Given the description of an element on the screen output the (x, y) to click on. 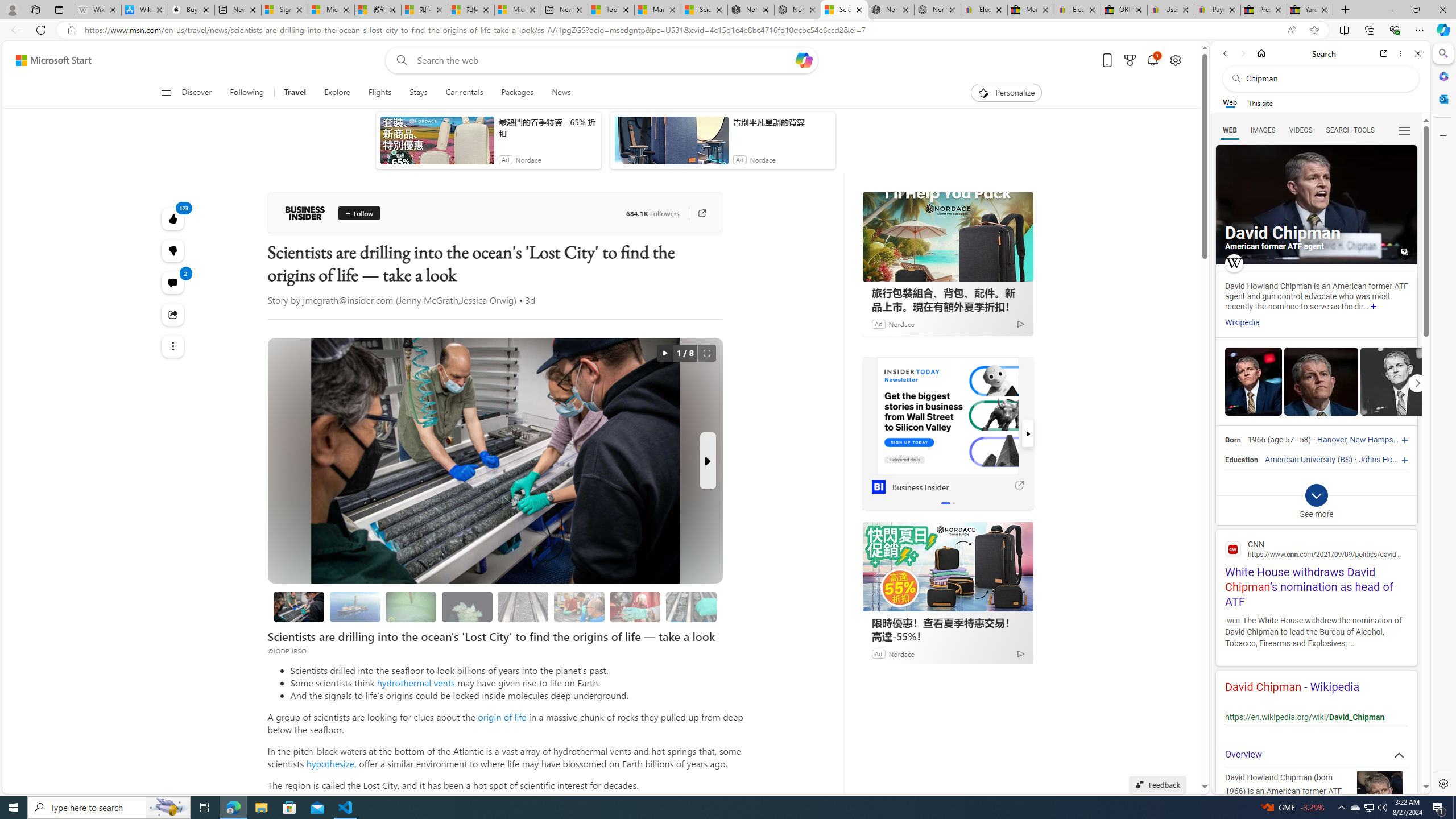
hydrothermal vents (415, 682)
Car rentals (464, 92)
hypothesize, (330, 763)
123 (172, 250)
View details (1396, 382)
